Given the description of an element on the screen output the (x, y) to click on. 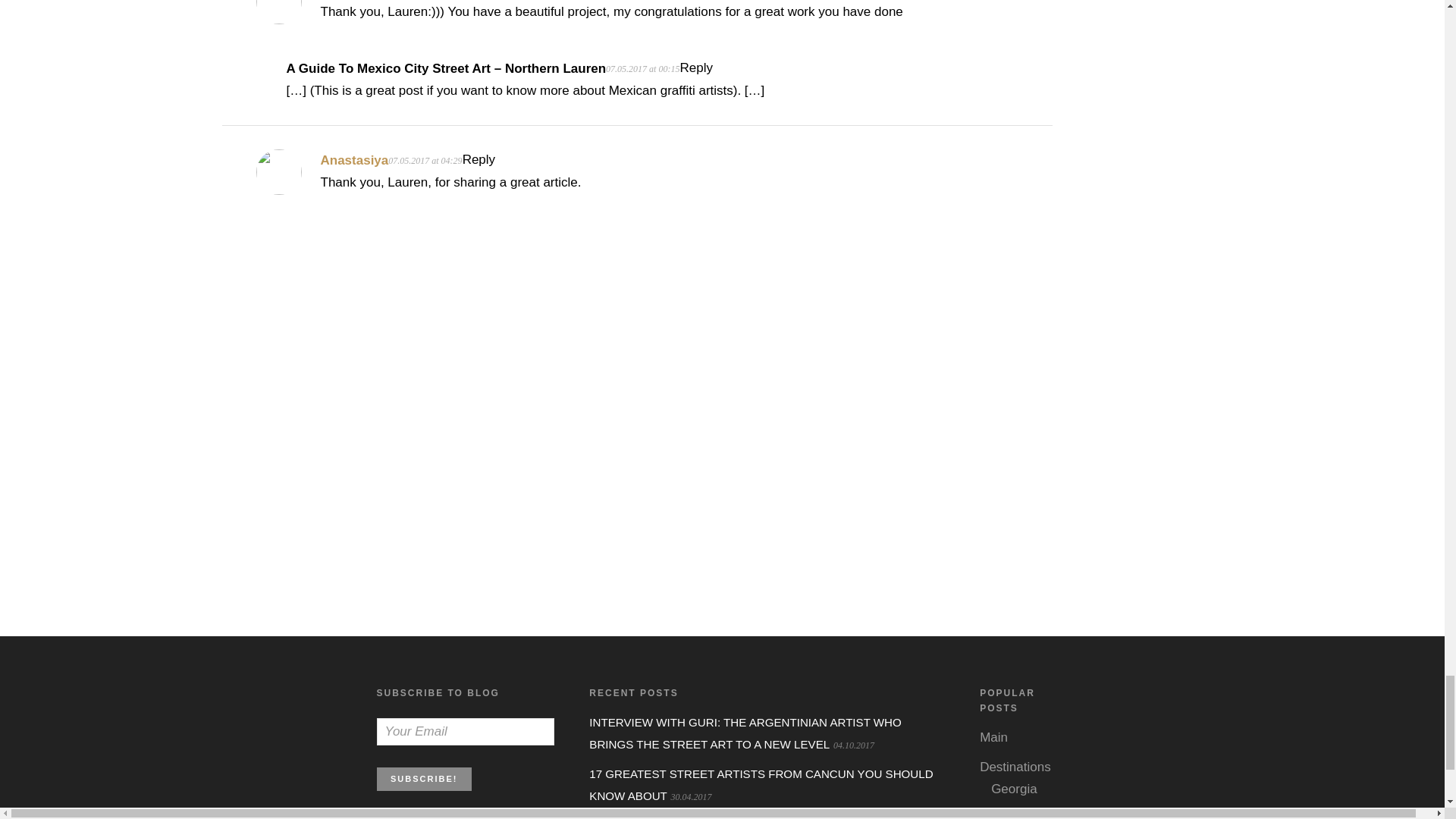
Your Email (464, 731)
Subscribe! (422, 779)
17 GREATEST STREET ARTISTS FROM CANCUN YOU SHOULD KNOW ABOUT (761, 784)
Subscribe! (422, 779)
